Given the description of an element on the screen output the (x, y) to click on. 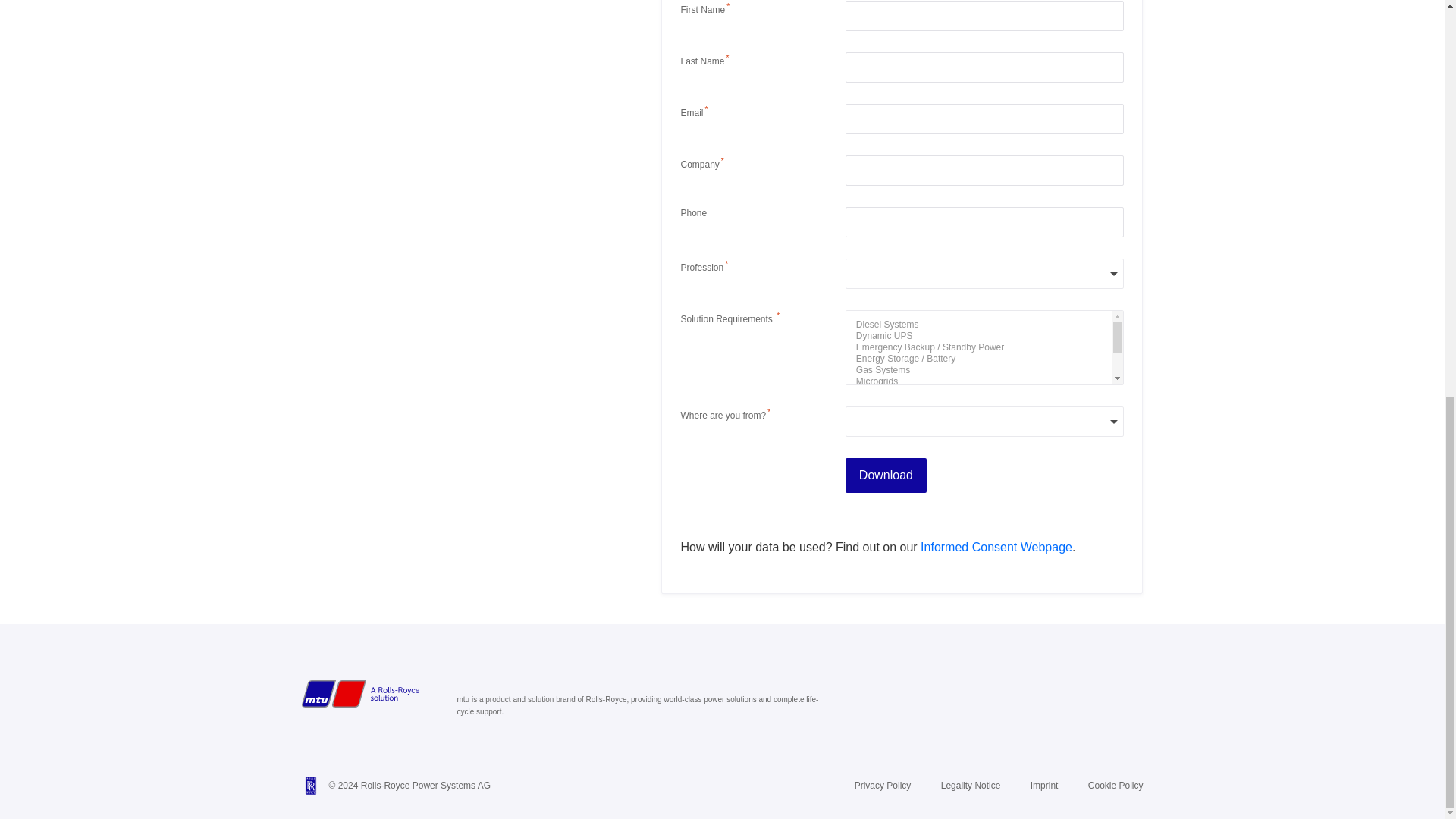
Cookie Policy (1114, 785)
Rolls-Royce (310, 785)
Informed Consent Webpage (995, 546)
Download (885, 475)
Privacy Policy (882, 785)
Imprint (1044, 785)
mtu-solutions.com Home (360, 693)
Download (885, 475)
Legality Notice (970, 785)
